Given the description of an element on the screen output the (x, y) to click on. 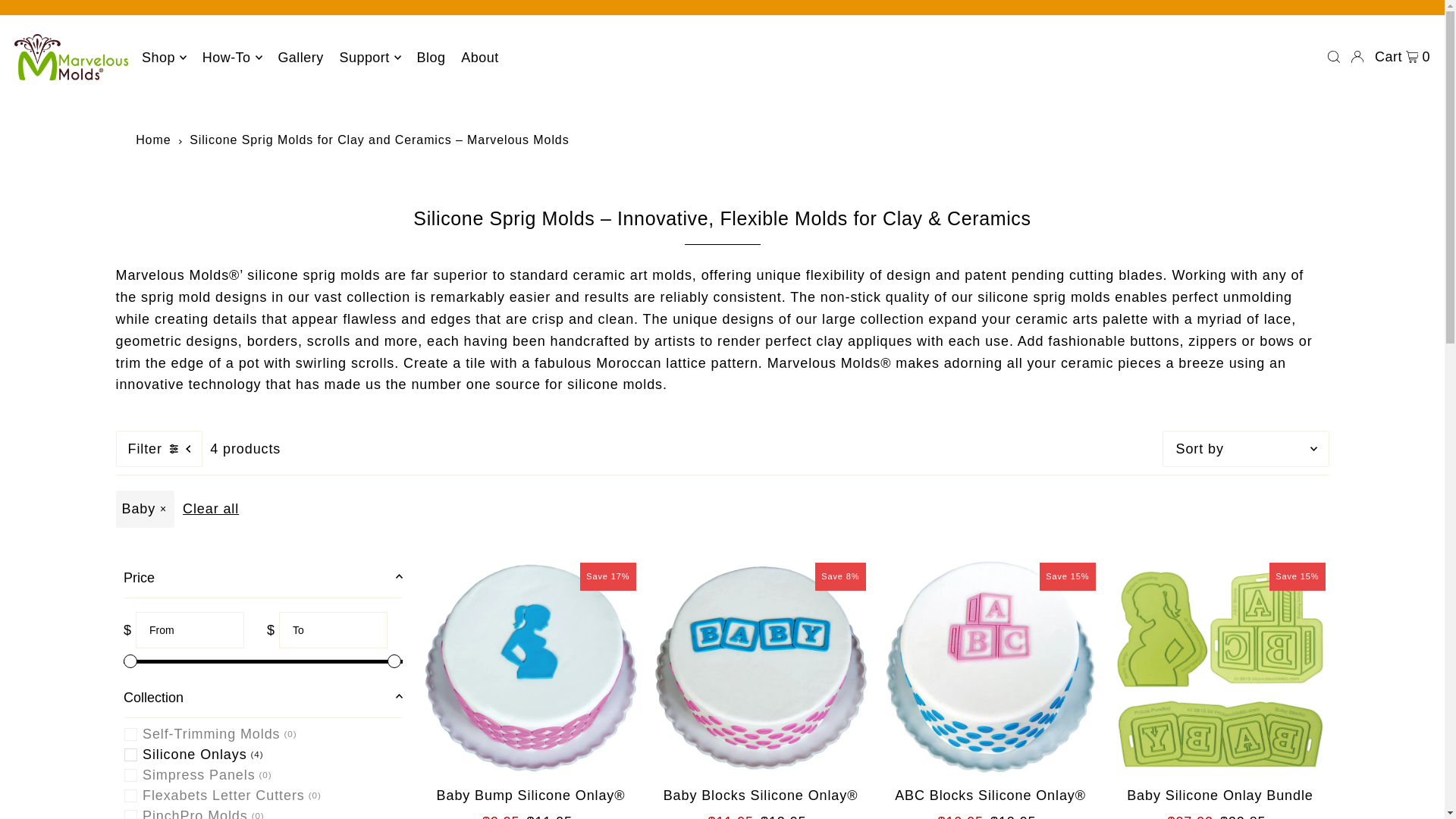
146 (261, 661)
0 (261, 661)
Shop (163, 57)
Home (152, 139)
Baby Silicone Onlay Bundle (1220, 667)
Cart (1401, 56)
